Given the description of an element on the screen output the (x, y) to click on. 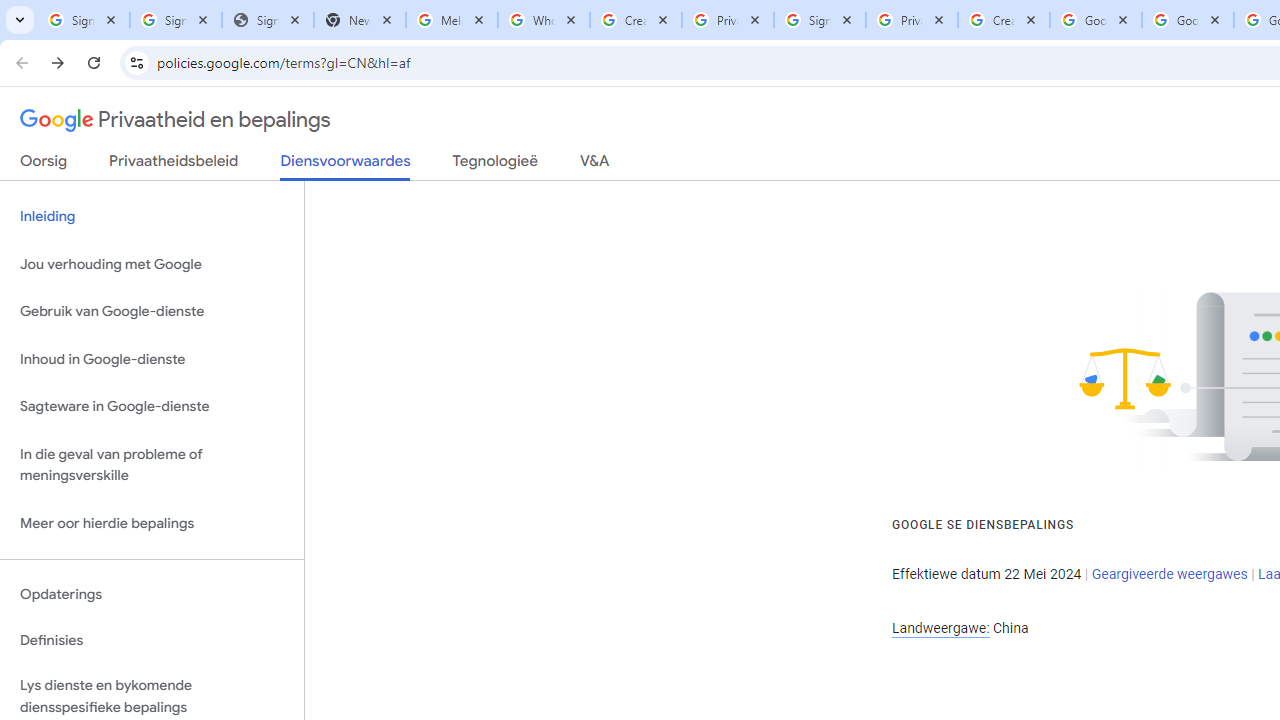
Privaatheidsbeleid (173, 165)
Inleiding (152, 216)
Sign in - Google Accounts (175, 20)
Who is my administrator? - Google Account Help (543, 20)
